Given the description of an element on the screen output the (x, y) to click on. 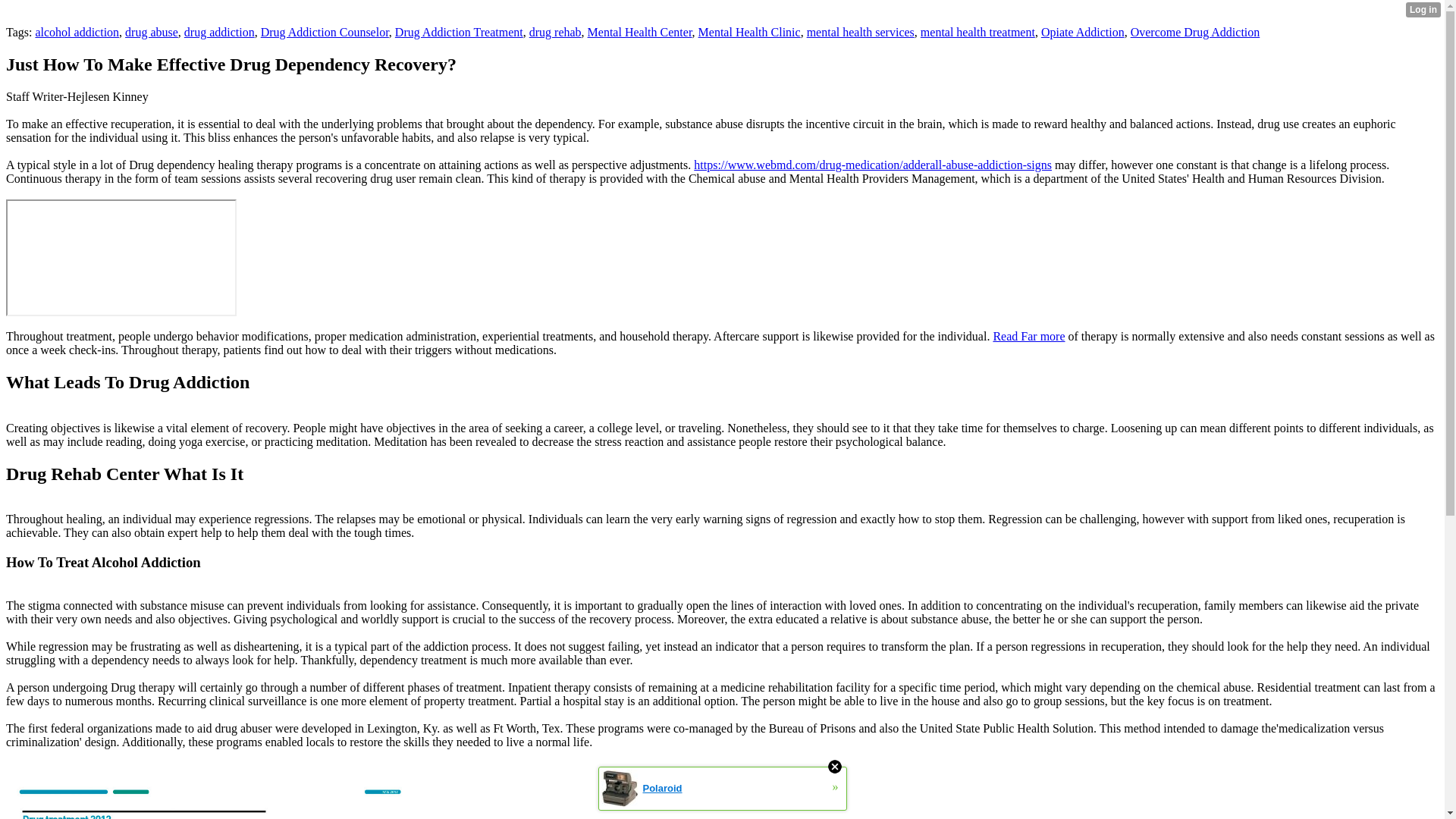
drug rehab (554, 31)
mental health treatment (977, 31)
Mental Health Center (640, 31)
Mental Health Clinic (749, 31)
Drug Addiction Counselor (324, 31)
Drug Addiction Treatment (458, 31)
drug addiction (219, 31)
mental health services (860, 31)
drug abuse (151, 31)
Overcome Drug Addiction (1195, 31)
